Given the description of an element on the screen output the (x, y) to click on. 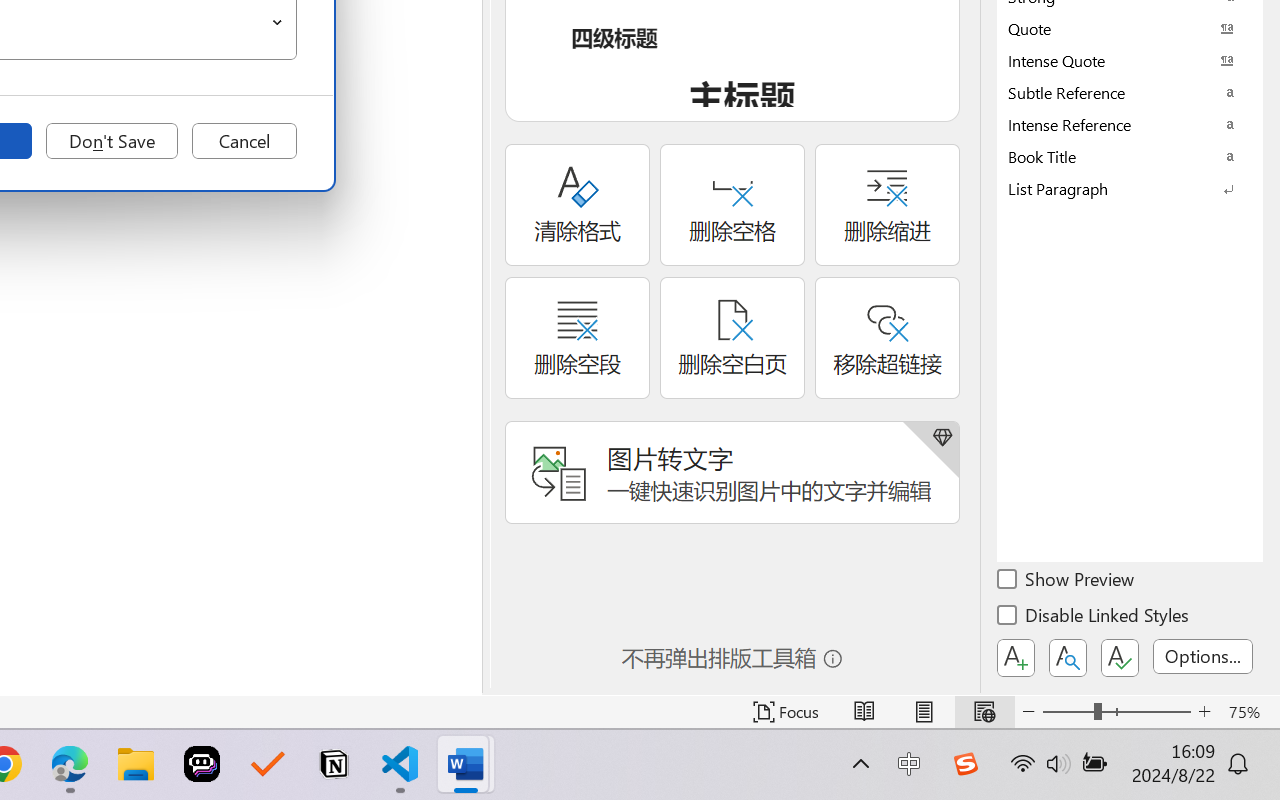
Poe (201, 764)
Subtle Reference (1130, 92)
Don't Save (111, 141)
Print Layout (924, 712)
Read Mode (864, 712)
Zoom (1116, 712)
List Paragraph (1130, 188)
Intense Reference (1130, 124)
